Given the description of an element on the screen output the (x, y) to click on. 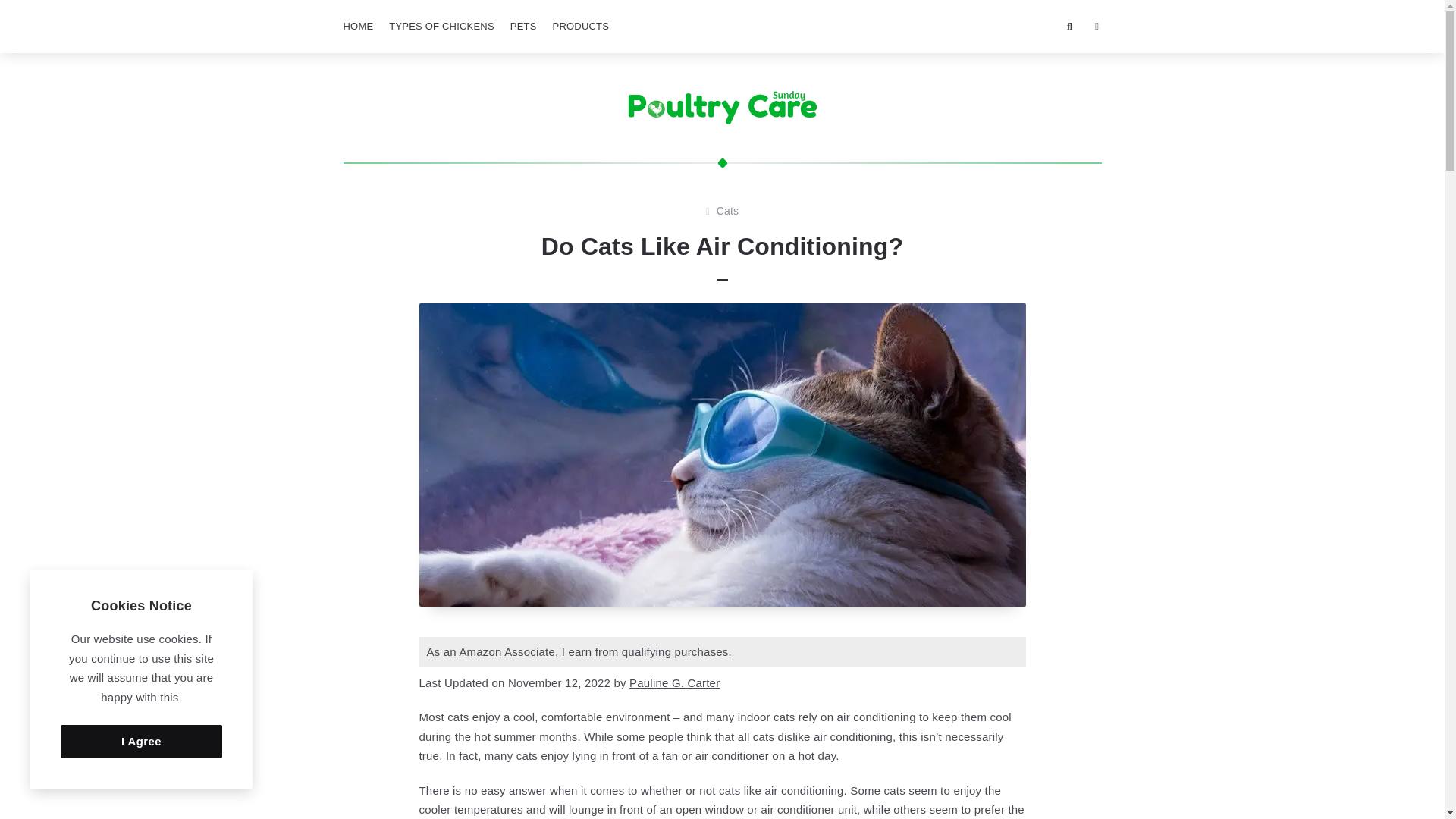
Cats (727, 211)
HOME (357, 26)
PRODUCTS (580, 26)
Pauline G. Carter (673, 682)
TYPES OF CHICKENS (441, 26)
